Given the description of an element on the screen output the (x, y) to click on. 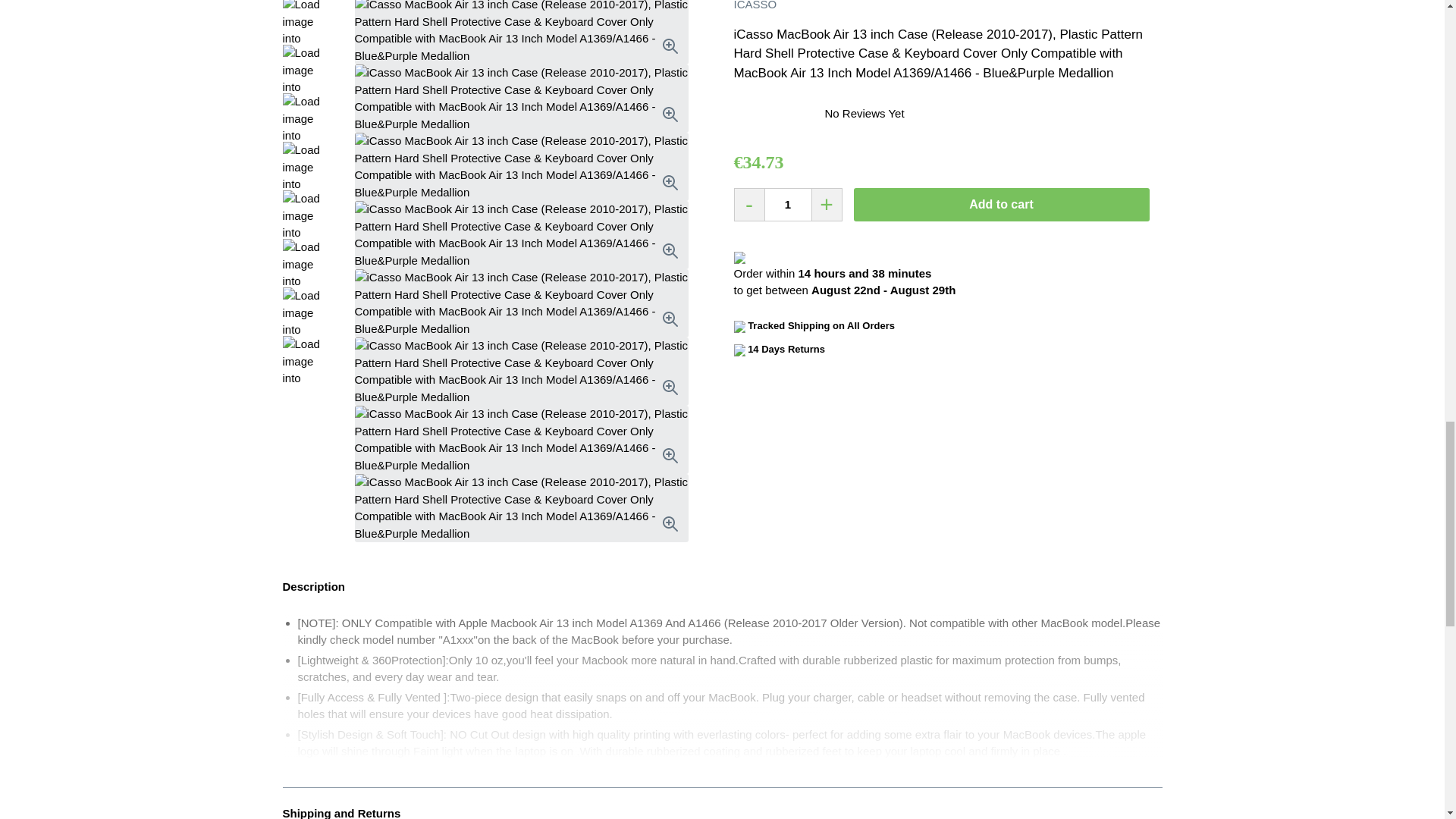
1 (788, 204)
